Given the description of an element on the screen output the (x, y) to click on. 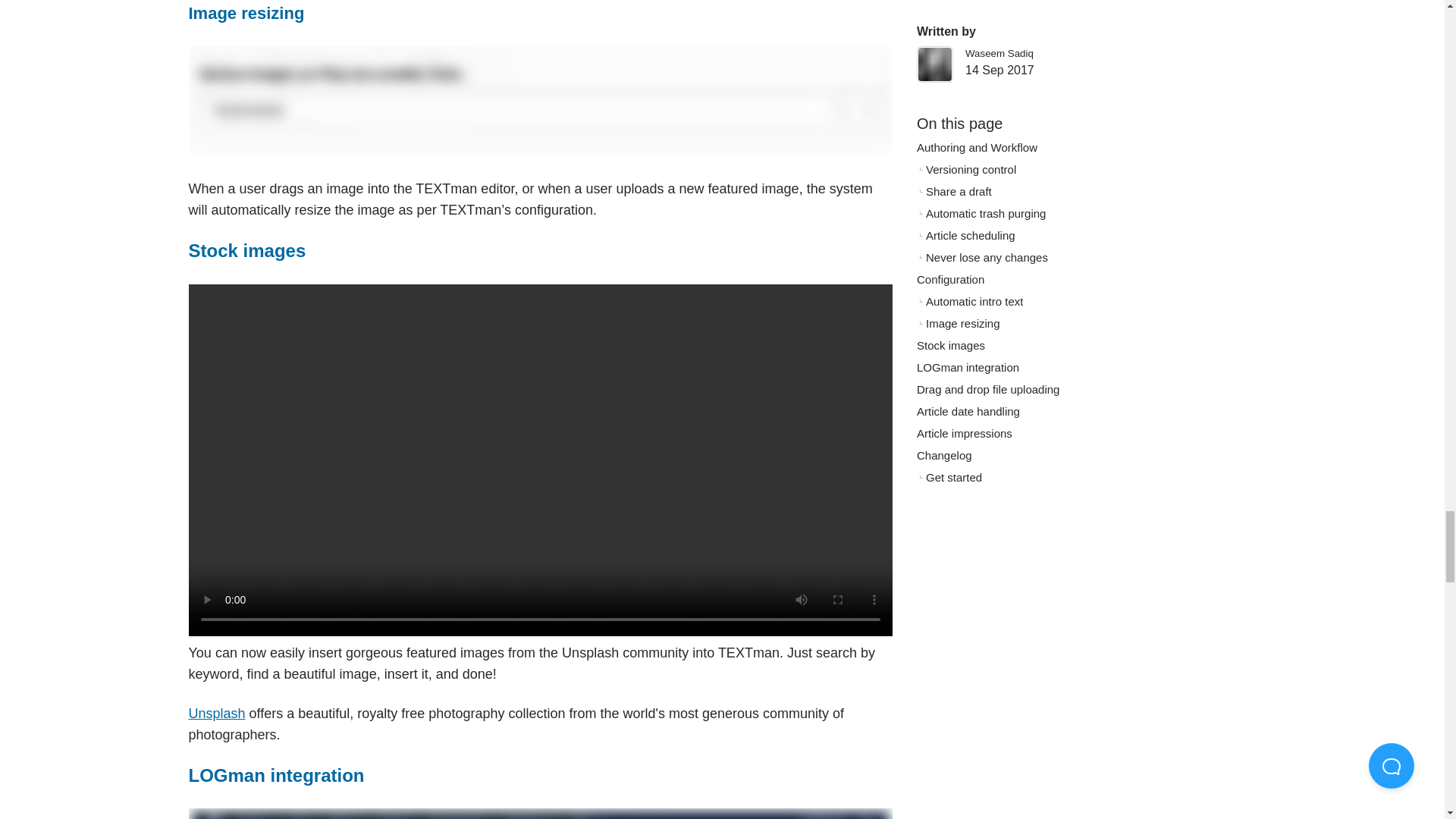
Stock images (246, 250)
LOGman integration (275, 774)
Image resizing (245, 13)
Unsplash (215, 713)
